Given the description of an element on the screen output the (x, y) to click on. 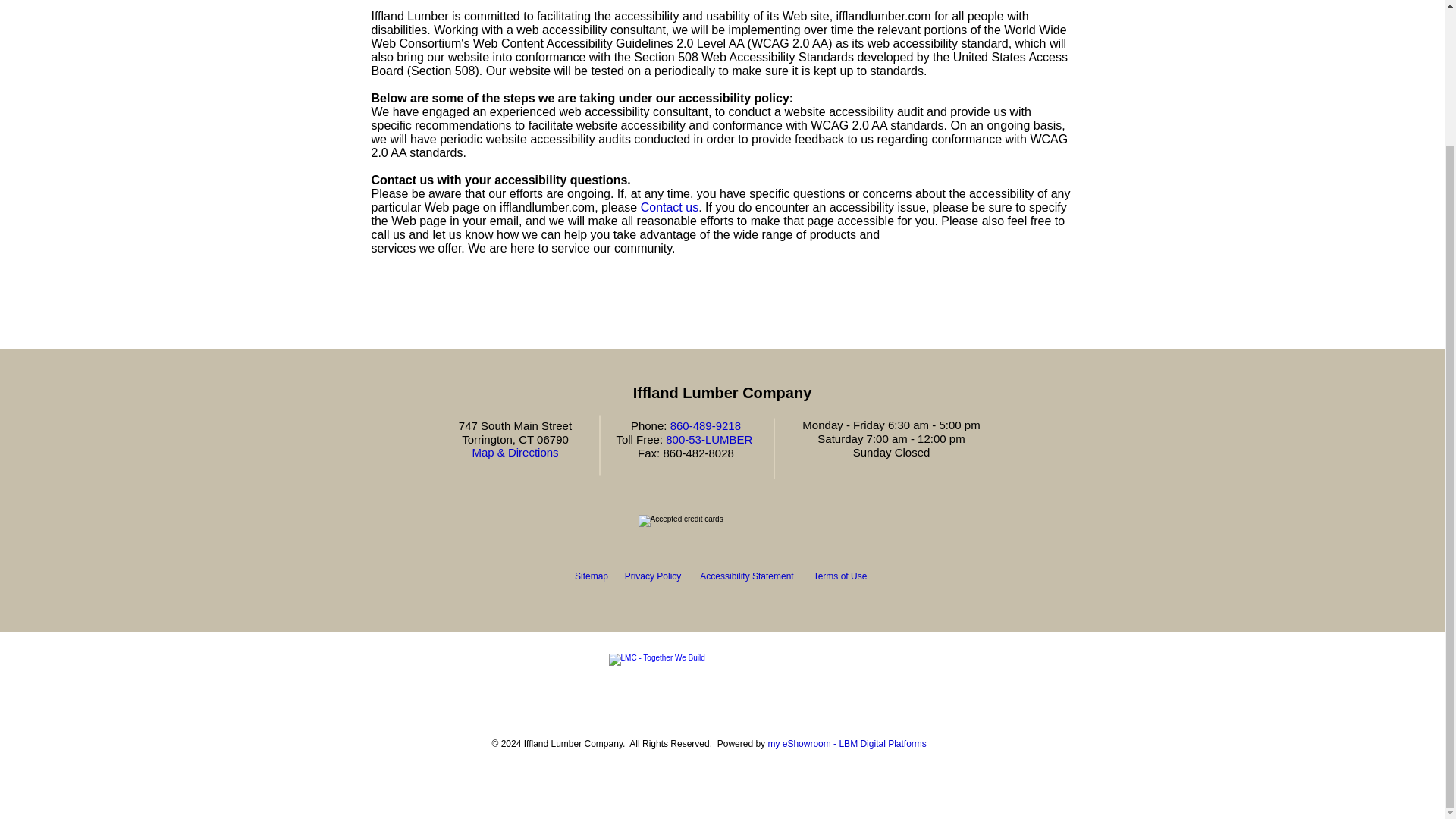
Terms of Use (840, 575)
Privacy Policy (652, 575)
Sitemap (591, 575)
860-489-9218 (705, 425)
Accessibility Statement (746, 575)
my eShowroom - LBM Digital Platforms (846, 743)
We accept all major credit cards (721, 526)
Click image for LMC Network website (721, 679)
800-53-LUMBER (708, 439)
Contact us (669, 206)
